Given the description of an element on the screen output the (x, y) to click on. 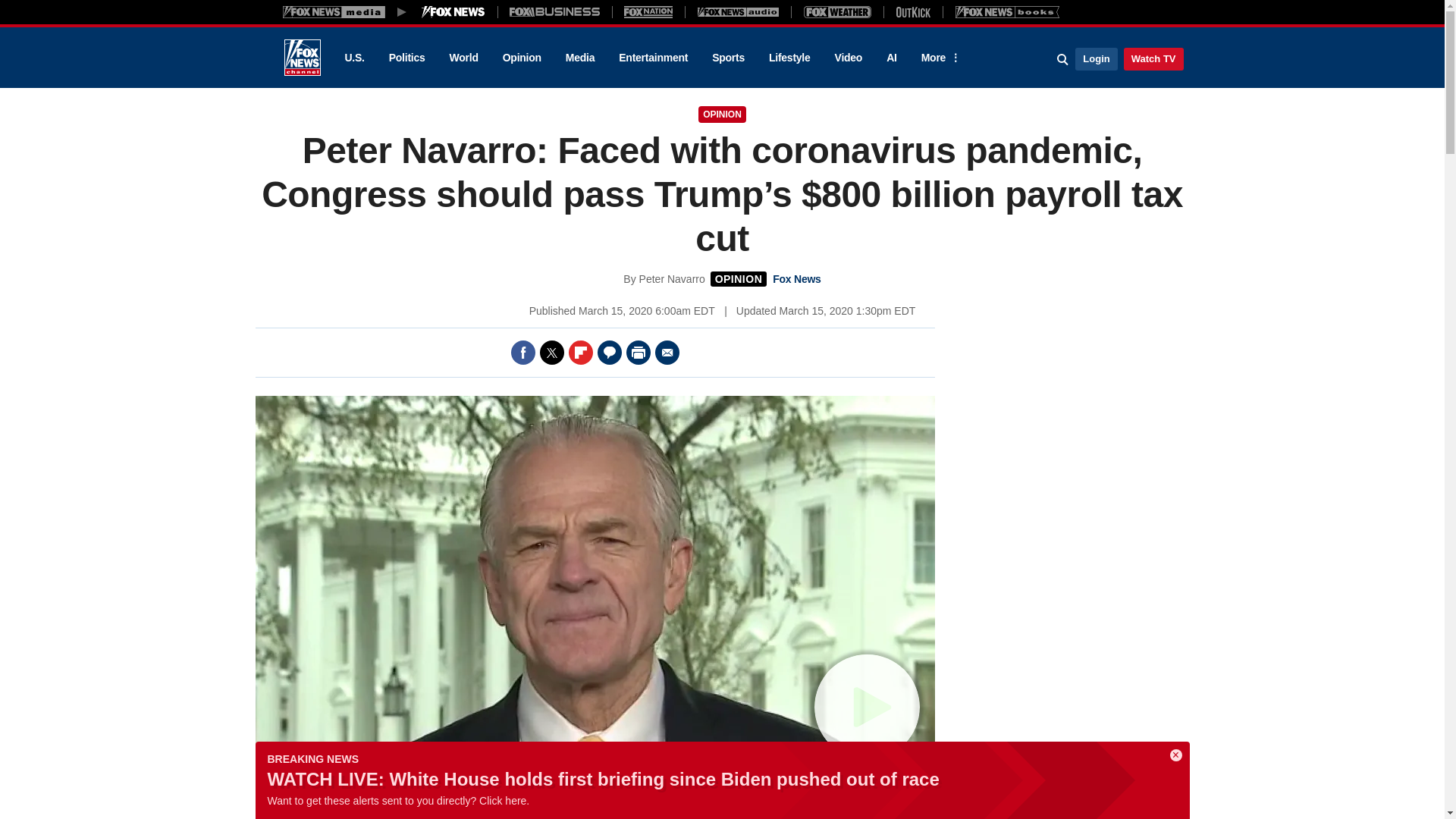
Fox Weather (836, 11)
Outkick (912, 11)
Entertainment (653, 57)
Books (1007, 11)
AI (891, 57)
Politics (407, 57)
Fox News Audio (737, 11)
Opinion (521, 57)
Fox Nation (648, 11)
Lifestyle (789, 57)
U.S. (353, 57)
Watch TV (1153, 58)
Fox News Media (453, 11)
Login (1095, 58)
Media (580, 57)
